Given the description of an element on the screen output the (x, y) to click on. 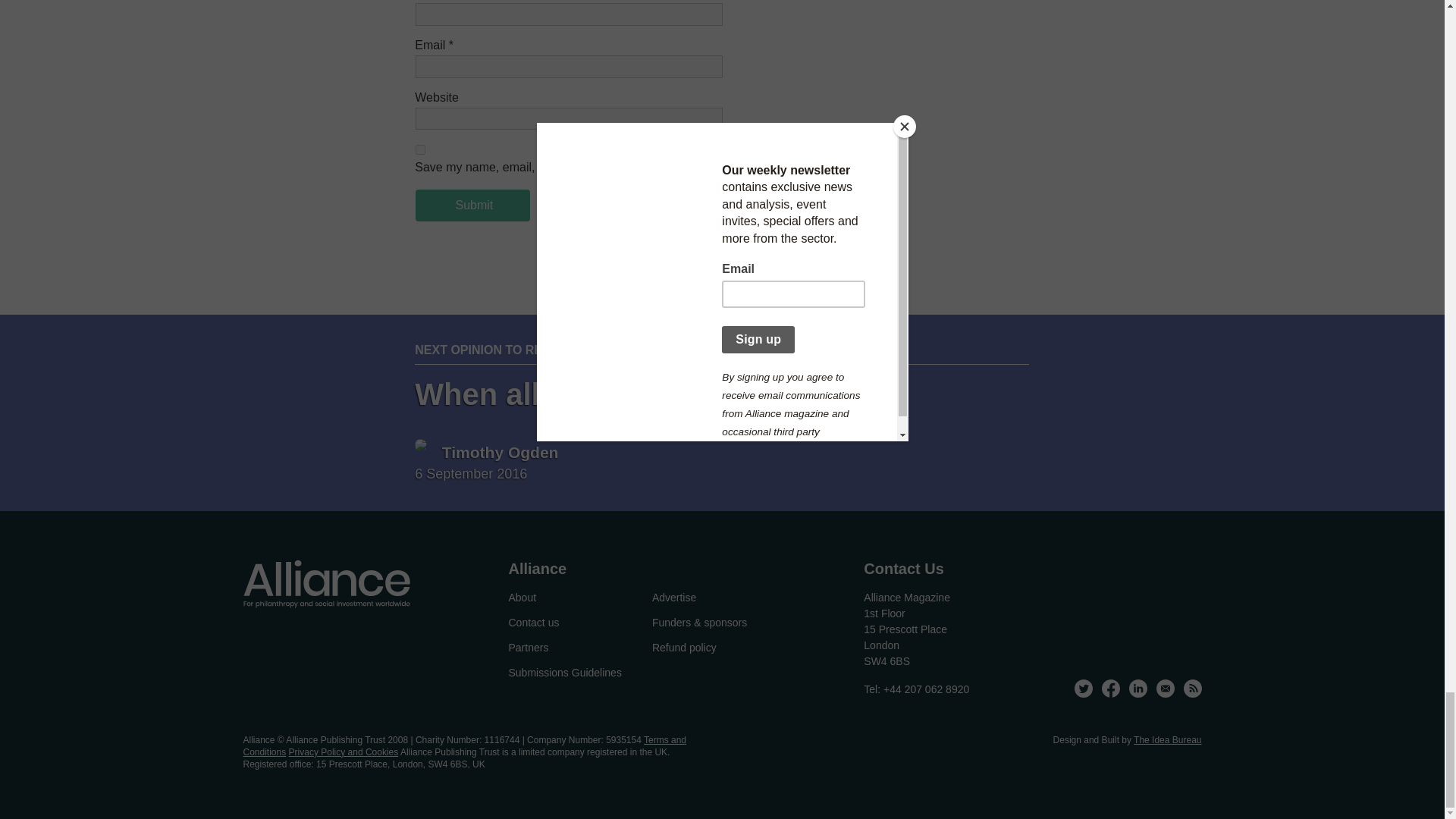
Submit (471, 205)
yes (419, 149)
